Given the description of an element on the screen output the (x, y) to click on. 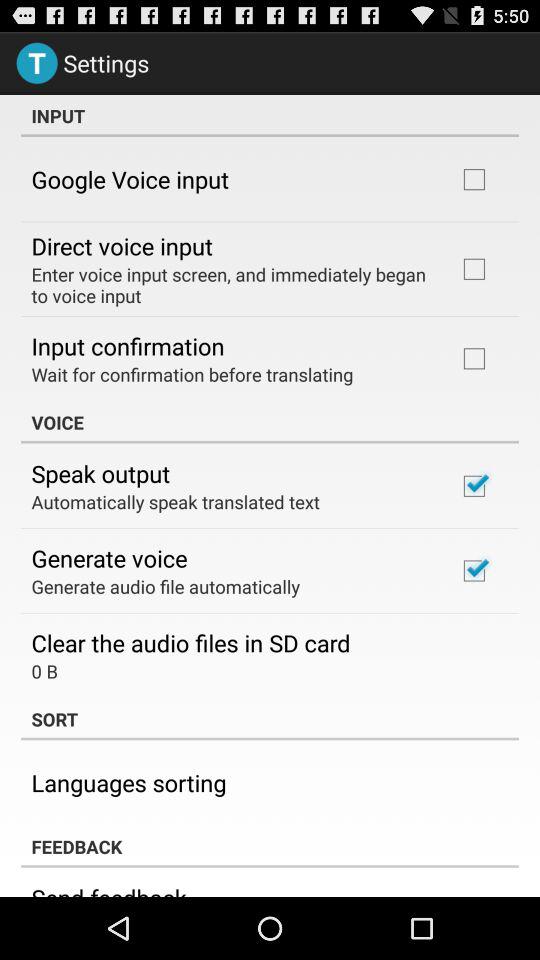
turn on icon below generate audio file item (190, 642)
